Given the description of an element on the screen output the (x, y) to click on. 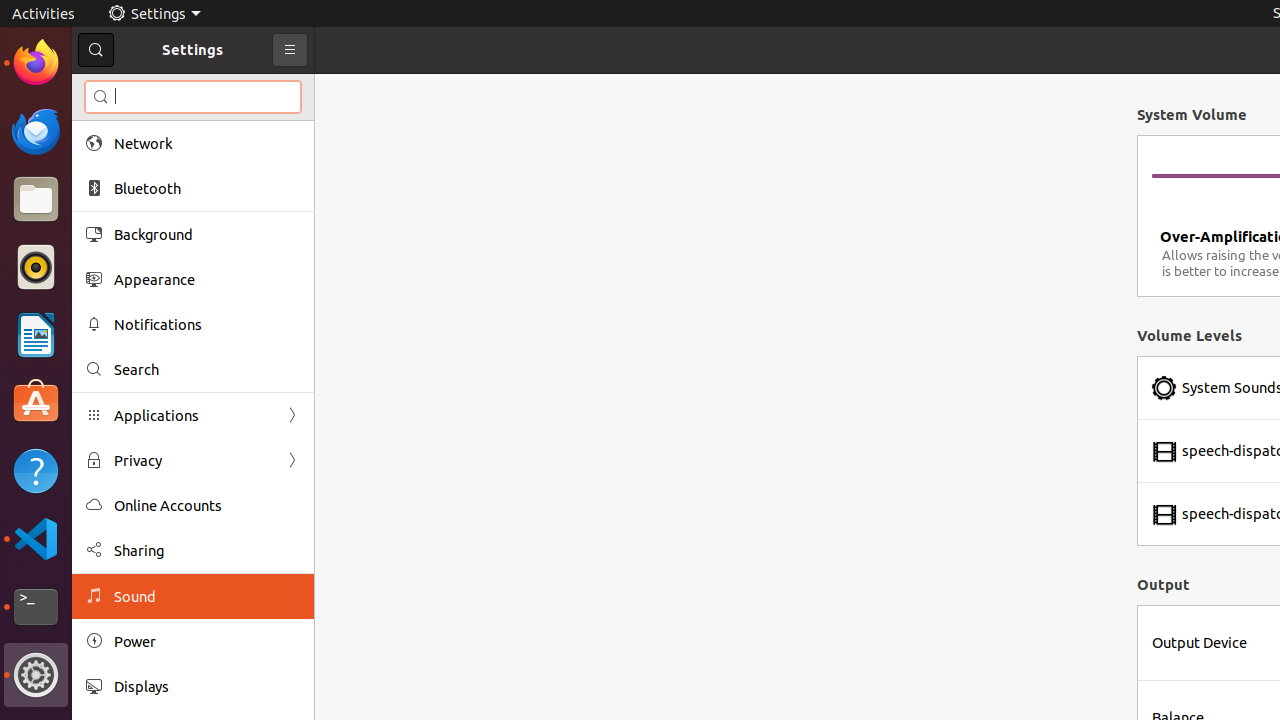
Firefox Web Browser Element type: push-button (36, 63)
Search Element type: text (193, 97)
Sharing Element type: label (207, 550)
